Given the description of an element on the screen output the (x, y) to click on. 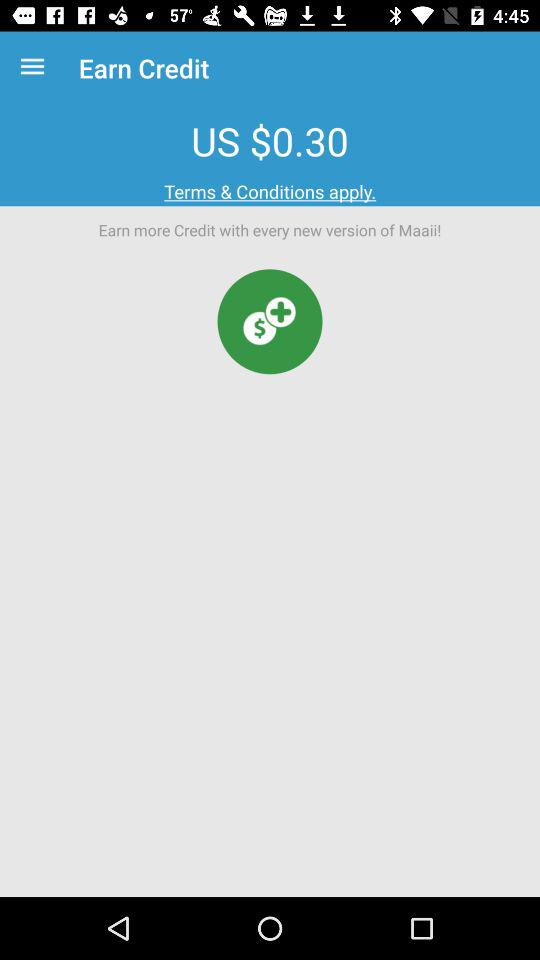
turn off the icon above the us $0.30 icon (36, 68)
